Given the description of an element on the screen output the (x, y) to click on. 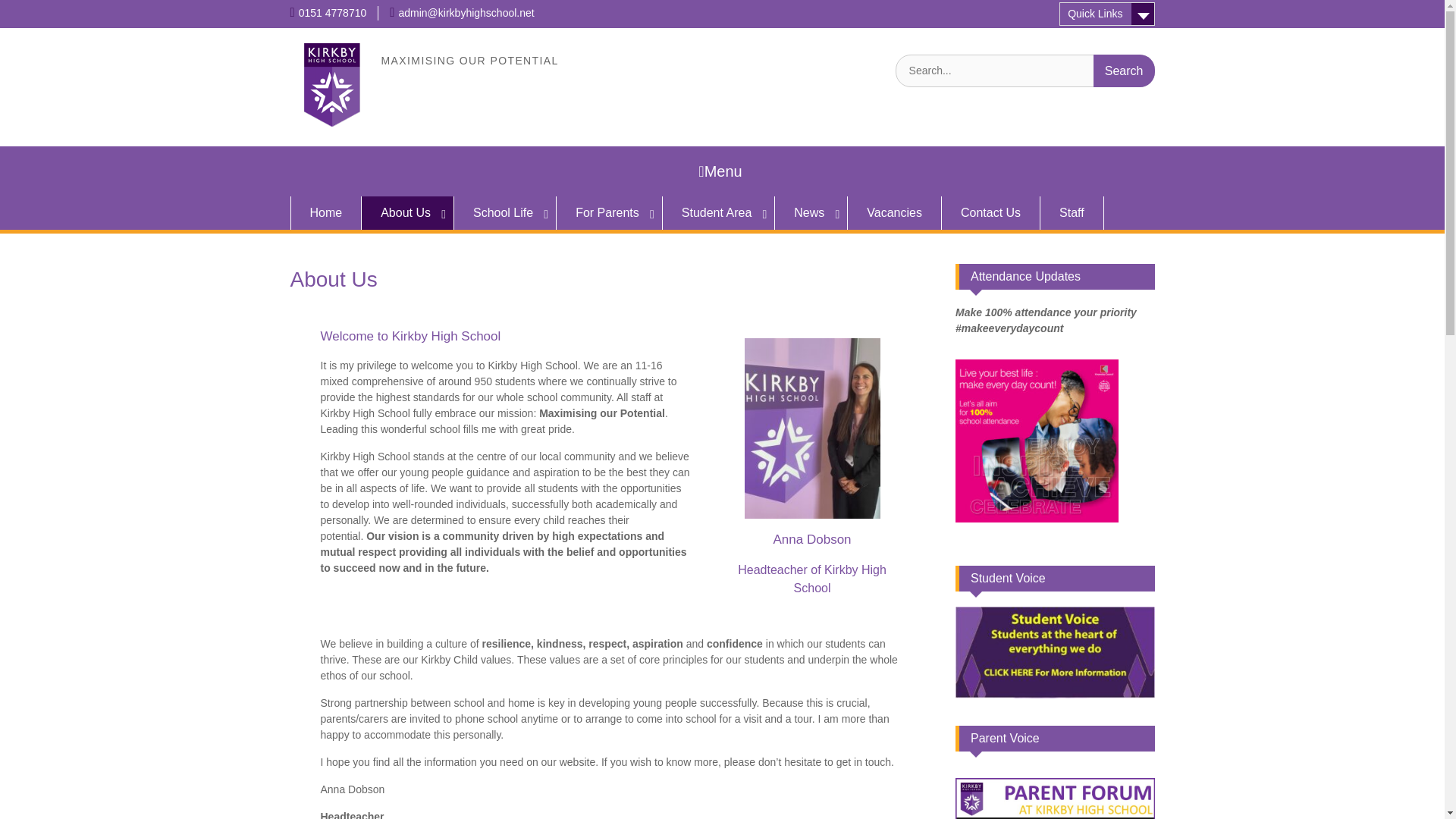
About Us (407, 213)
Search (1123, 70)
Home (325, 213)
Search for: (1024, 70)
Search (1123, 70)
Search (1123, 70)
School Life (505, 213)
0151 4778710 (332, 12)
Quick Links (1106, 13)
Menu (722, 171)
